Given the description of an element on the screen output the (x, y) to click on. 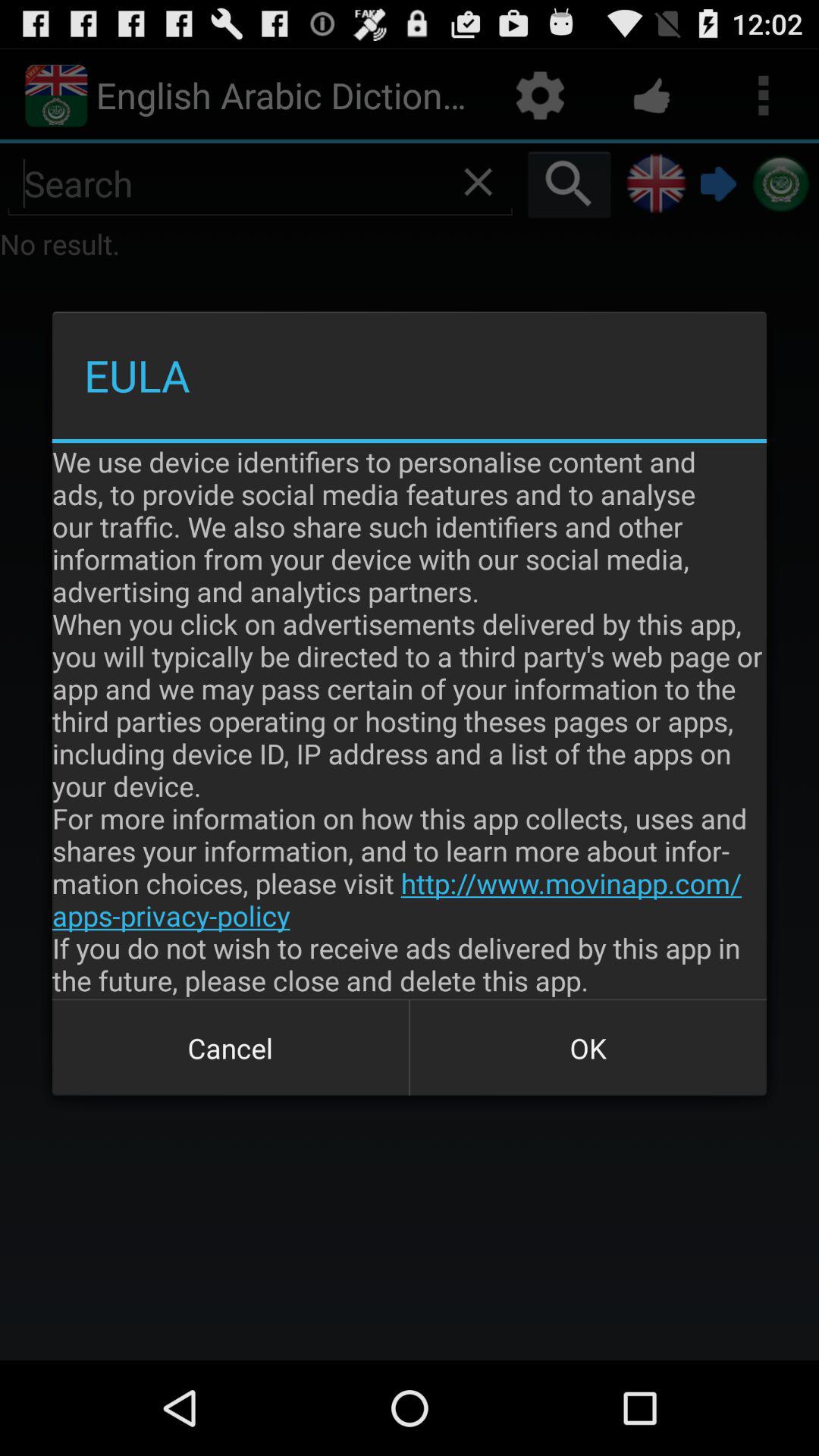
click ok button (588, 1047)
